Given the description of an element on the screen output the (x, y) to click on. 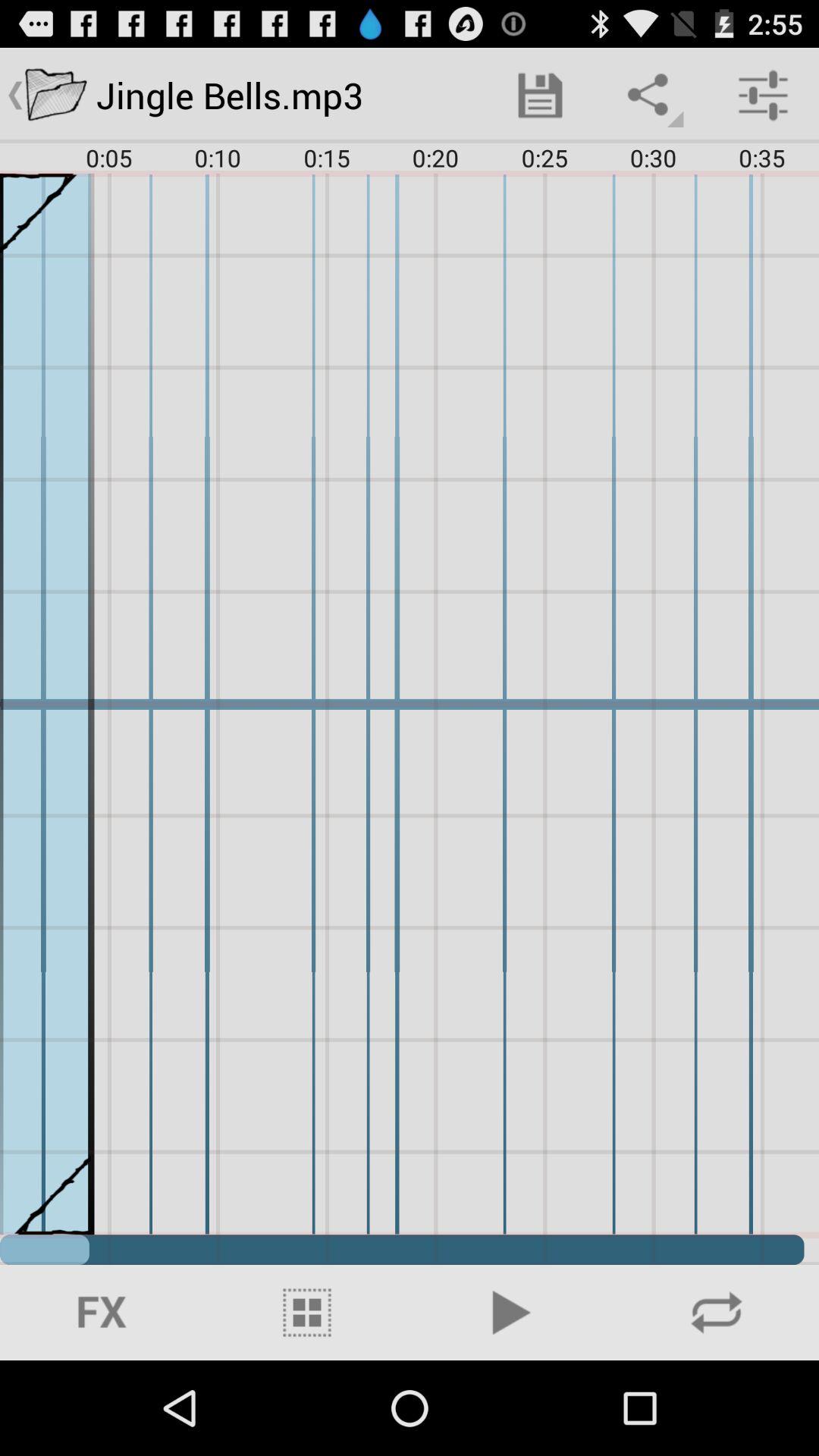
click icon at the bottom right corner (716, 1312)
